Given the description of an element on the screen output the (x, y) to click on. 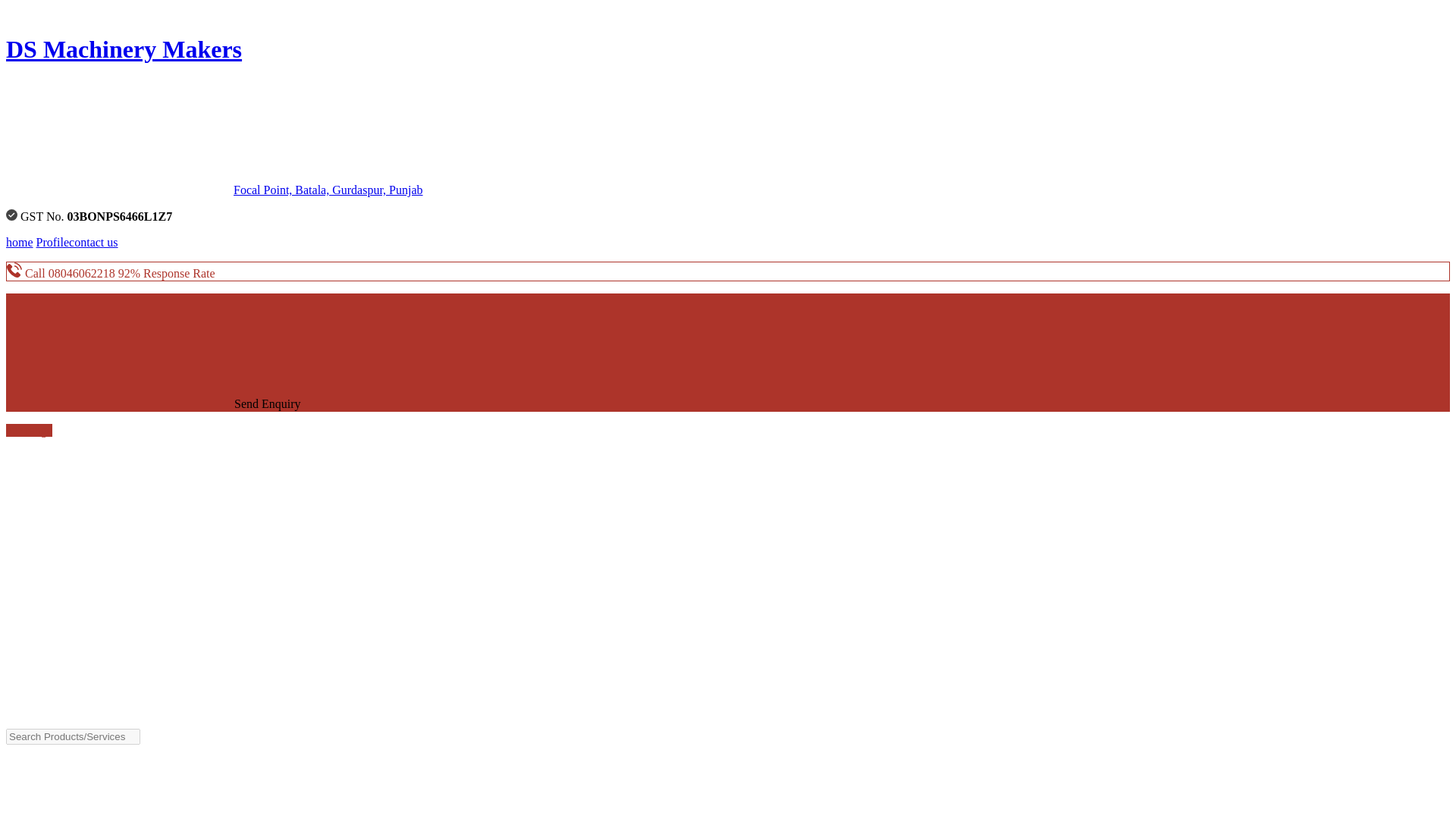
home (19, 241)
Profile (52, 241)
our range (28, 430)
contact us (92, 241)
